Given the description of an element on the screen output the (x, y) to click on. 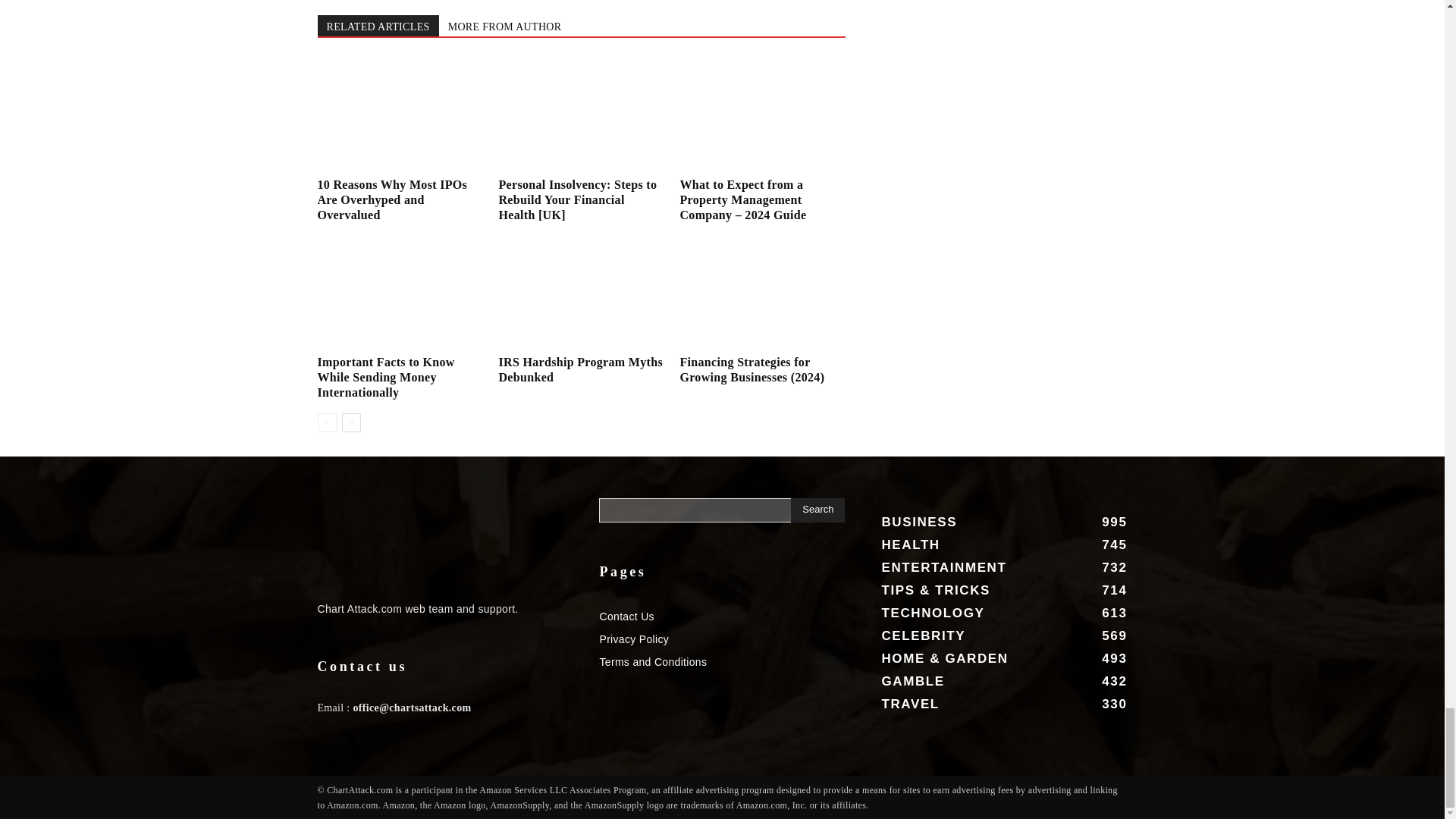
10 Reasons Why Most IPOs Are Overhyped and Overvalued (392, 199)
10 Reasons Why Most IPOs Are Overhyped and Overvalued (399, 114)
Search (817, 509)
